Given the description of an element on the screen output the (x, y) to click on. 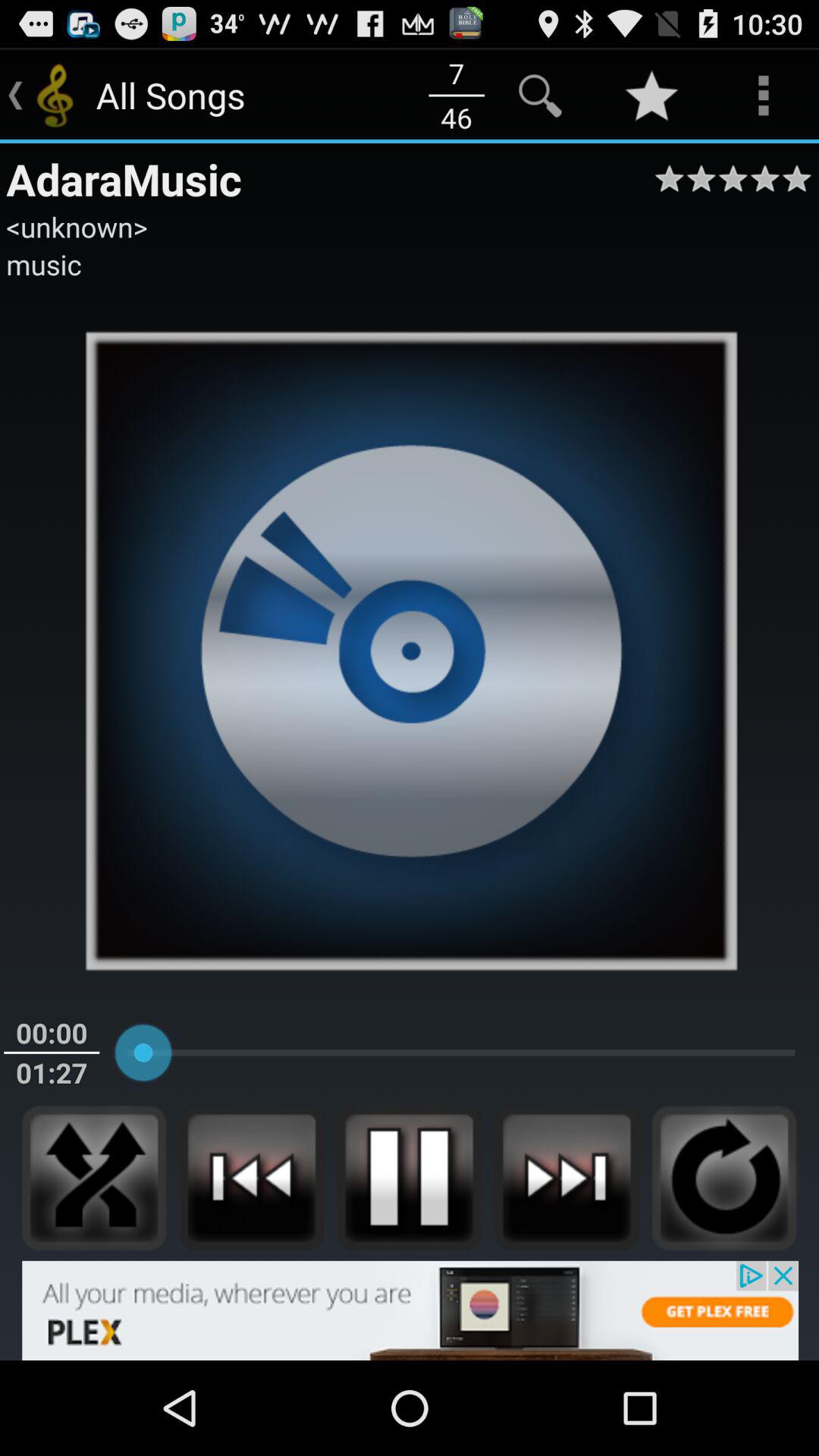
great to listen songs from this app in lonliness (93, 1177)
